Given the description of an element on the screen output the (x, y) to click on. 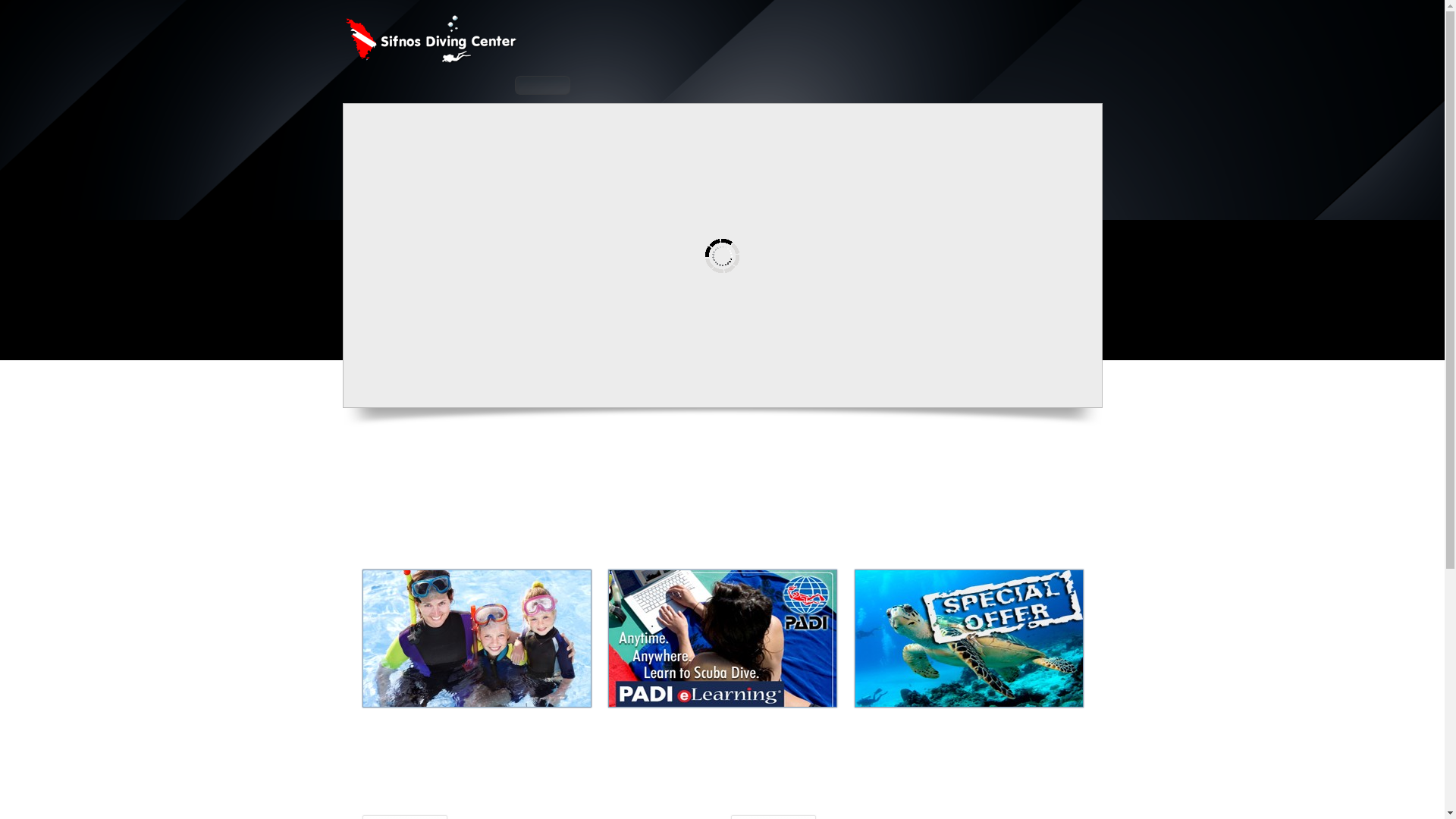
Read More... (521, 665)
 Read more (697, 649)
Read more (697, 649)
Whatch A Center Alignment Page (521, 665)
